Given the description of an element on the screen output the (x, y) to click on. 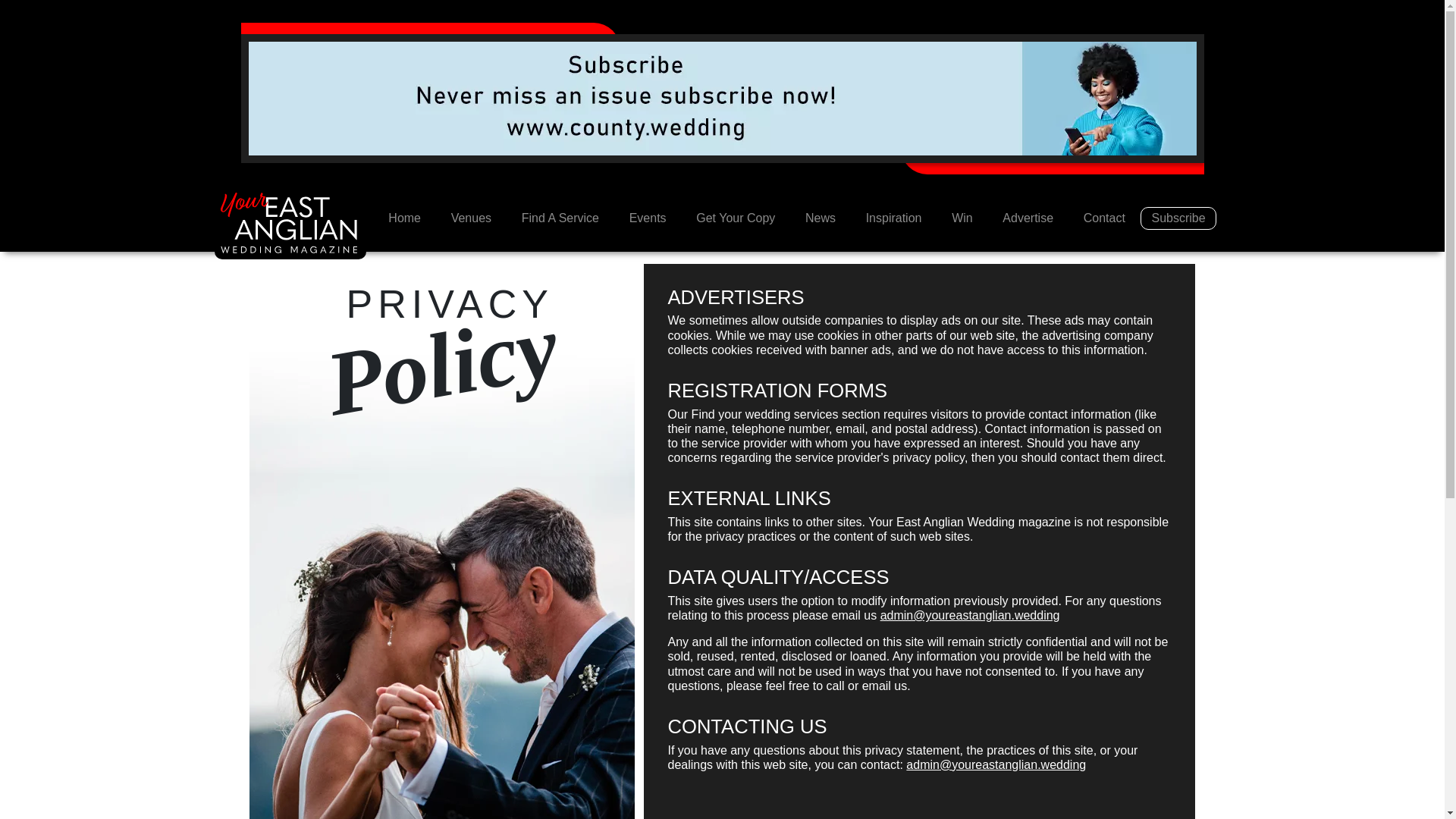
Contact the team at Your East Anglian Wedding magazine (1104, 218)
Your East Anglian Wedding (289, 224)
Your East Anglian Wedding (403, 218)
News (820, 218)
Contact (1104, 218)
Events (647, 218)
Be inspired by Your East Anglian Wedding magazine (893, 218)
Win (961, 218)
Advertise with Your East Anglian Wedding magazine (1028, 218)
